Given the description of an element on the screen output the (x, y) to click on. 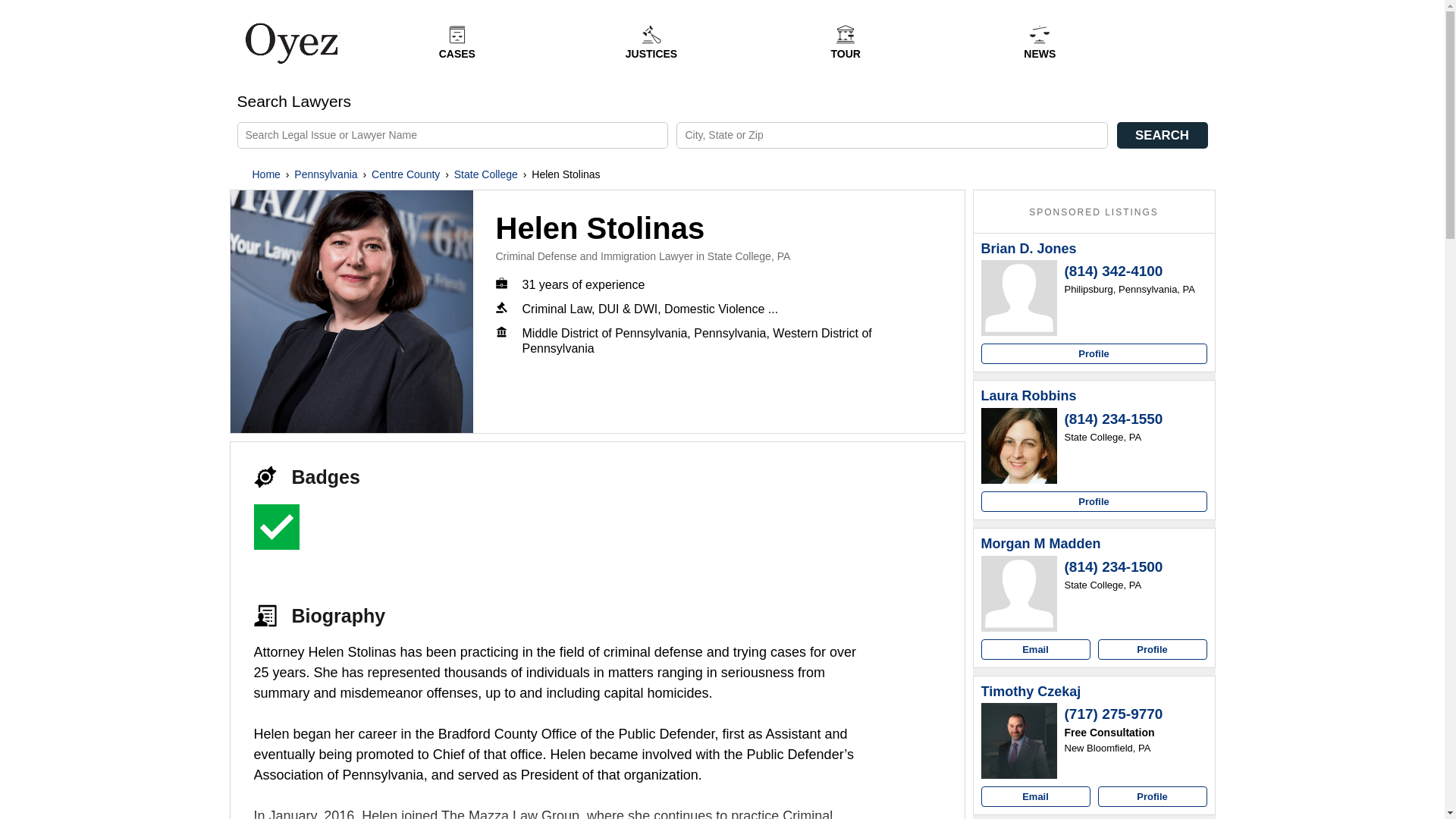
CASES (456, 41)
Profile (1152, 649)
SPONSORED LISTINGS (1093, 212)
Home (265, 174)
Helen Stolinas (351, 311)
TOUR (845, 41)
Brian D. Jones (1029, 248)
Timothy Czekaj (1019, 740)
Pennsylvania (325, 174)
Brian D. Jones (1029, 248)
State College (486, 174)
Morgan M Madden (1040, 544)
JUSTICES (651, 41)
Email (1035, 796)
Timothy Czekaj (1031, 692)
